Given the description of an element on the screen output the (x, y) to click on. 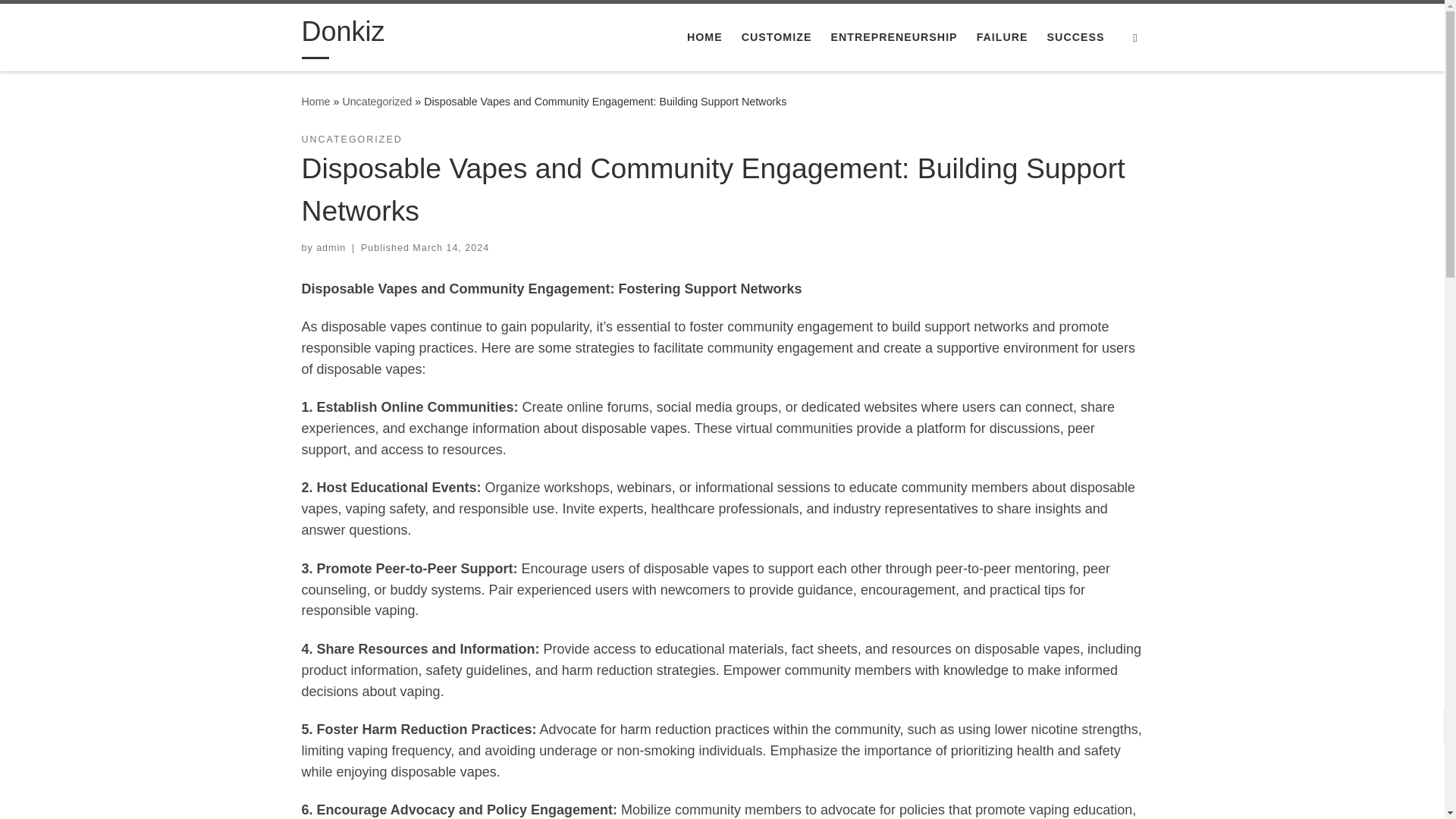
Uncategorized (377, 101)
Home (315, 101)
SUCCESS (1075, 37)
Uncategorized (377, 101)
View all posts in Uncategorized (352, 139)
View all posts by admin (330, 247)
CUSTOMIZE (775, 37)
ENTREPRENEURSHIP (893, 37)
Donkiz (343, 34)
Donkiz (315, 101)
